Given the description of an element on the screen output the (x, y) to click on. 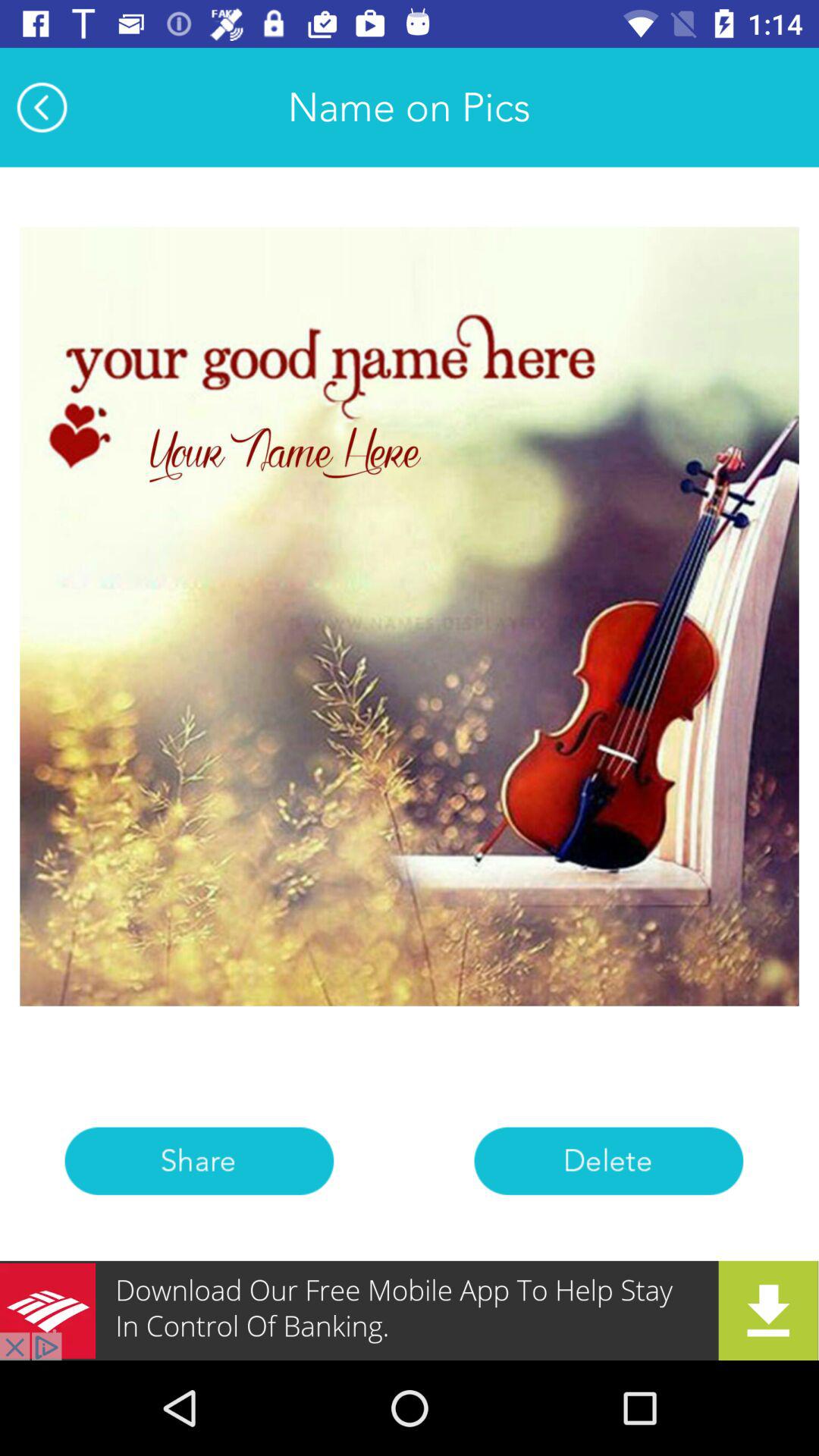
share the article (198, 1160)
